Given the description of an element on the screen output the (x, y) to click on. 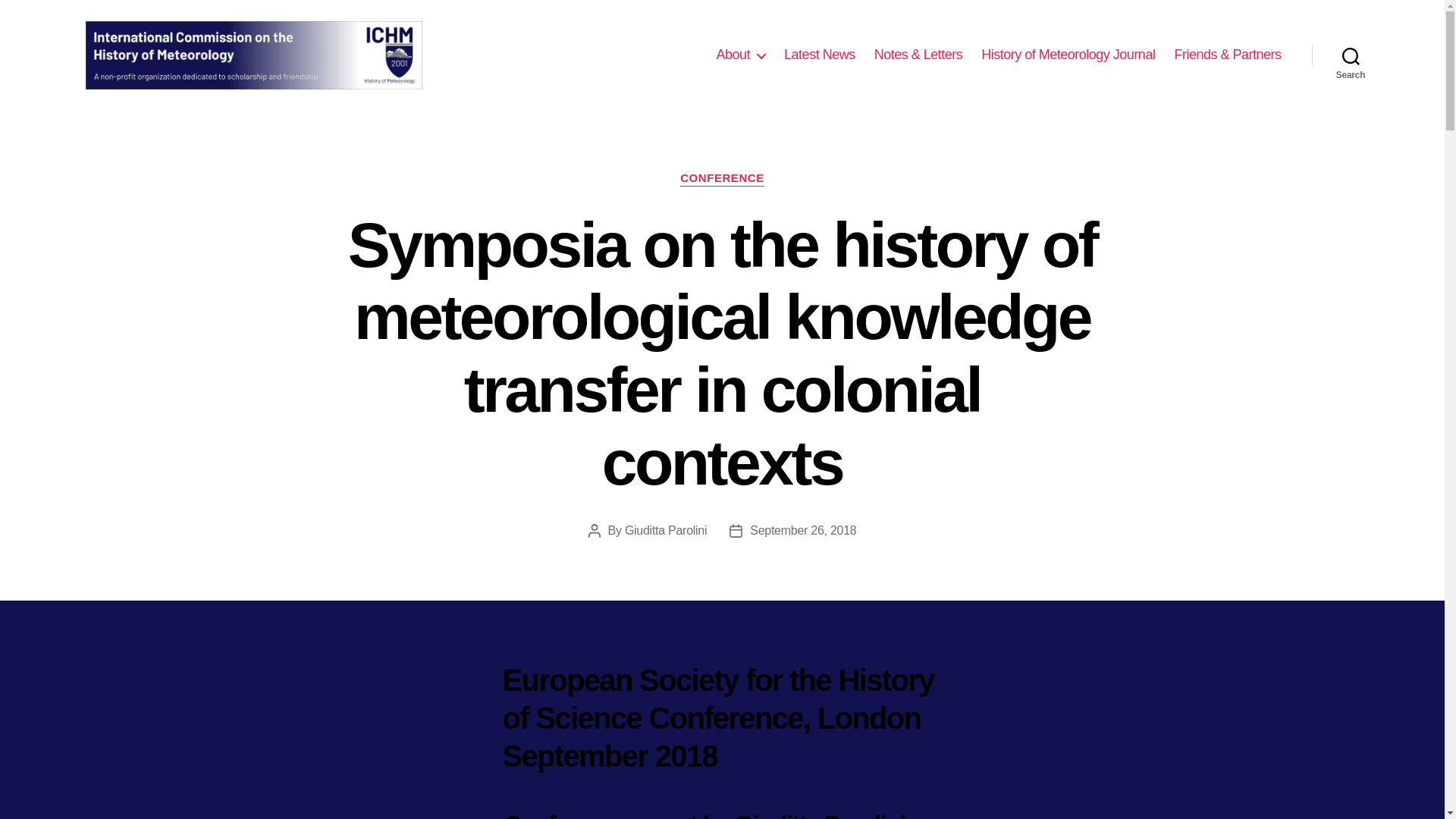
Latest News (820, 54)
September 26, 2018 (802, 530)
History of Meteorology Journal (1067, 54)
About (740, 54)
CONFERENCE (721, 178)
Giuditta Parolini (665, 530)
Search (1350, 55)
